Given the description of an element on the screen output the (x, y) to click on. 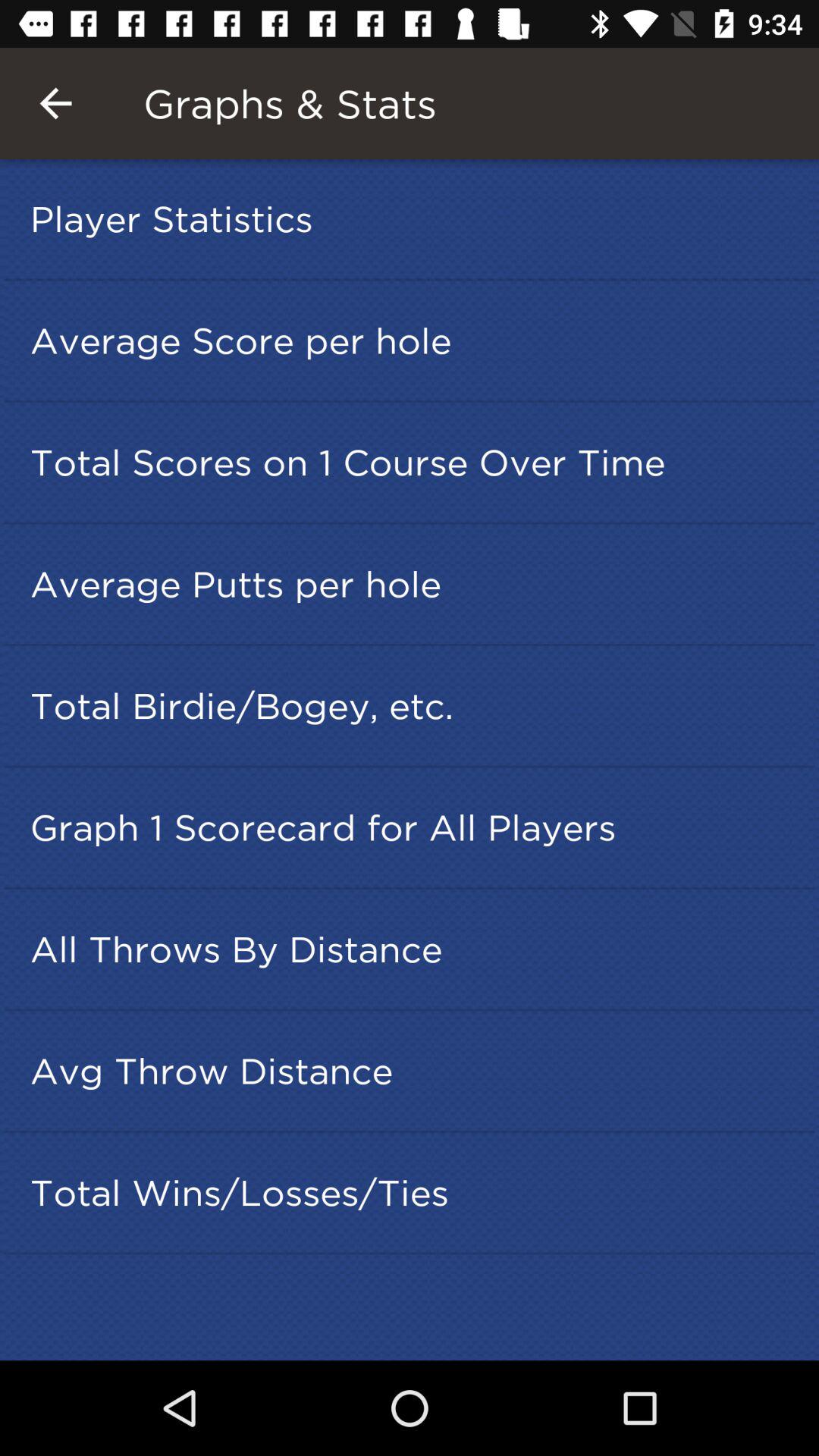
jump until the all throws by (414, 949)
